Given the description of an element on the screen output the (x, y) to click on. 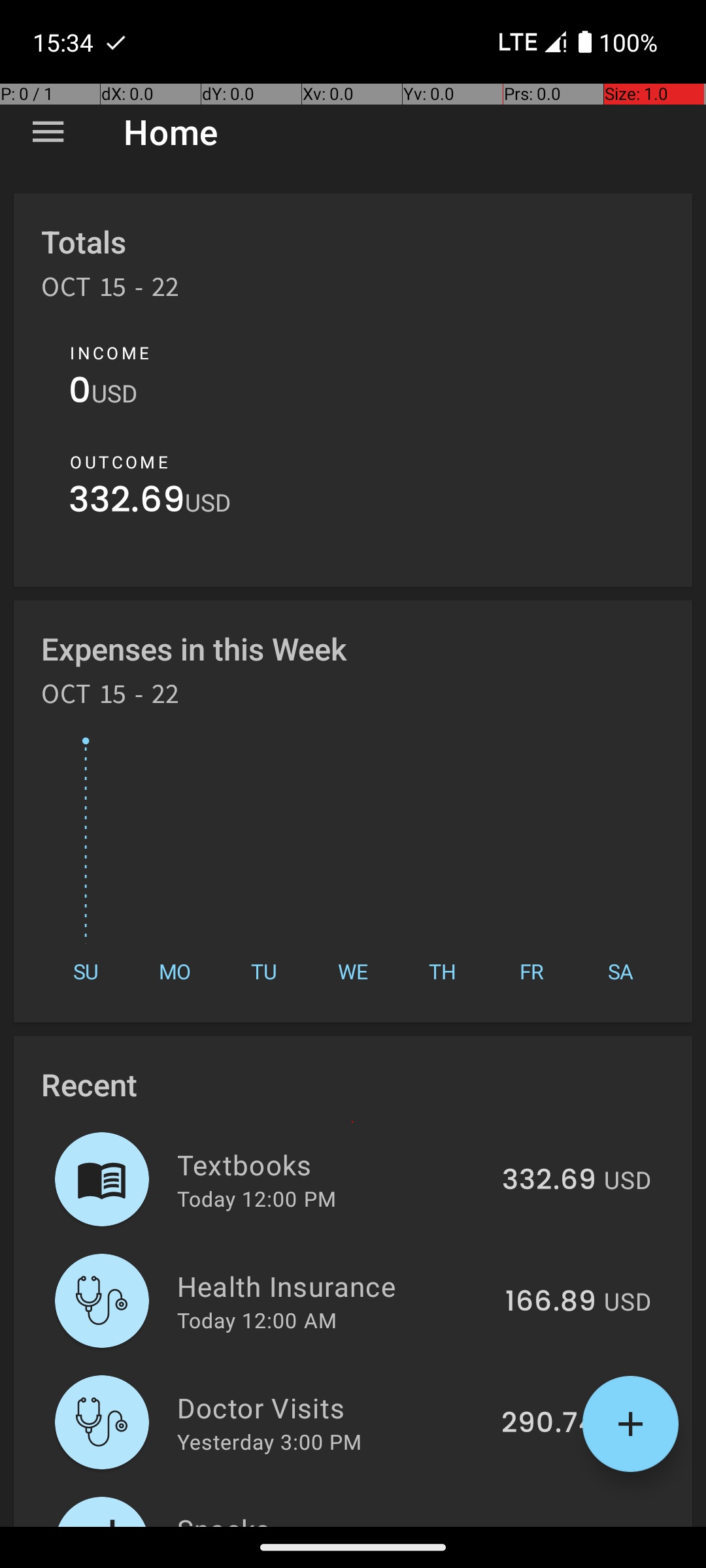
332.69 Element type: android.widget.TextView (126, 502)
Textbooks Element type: android.widget.TextView (331, 1164)
Today 12:00 PM Element type: android.widget.TextView (256, 1198)
Health Insurance Element type: android.widget.TextView (333, 1285)
Today 12:00 AM Element type: android.widget.TextView (256, 1320)
166.89 Element type: android.widget.TextView (550, 1301)
Yesterday 3:00 PM Element type: android.widget.TextView (269, 1441)
290.74 Element type: android.widget.TextView (548, 1423)
Snacks Element type: android.widget.TextView (335, 1518)
321.55 Element type: android.widget.TextView (551, 1524)
